Given the description of an element on the screen output the (x, y) to click on. 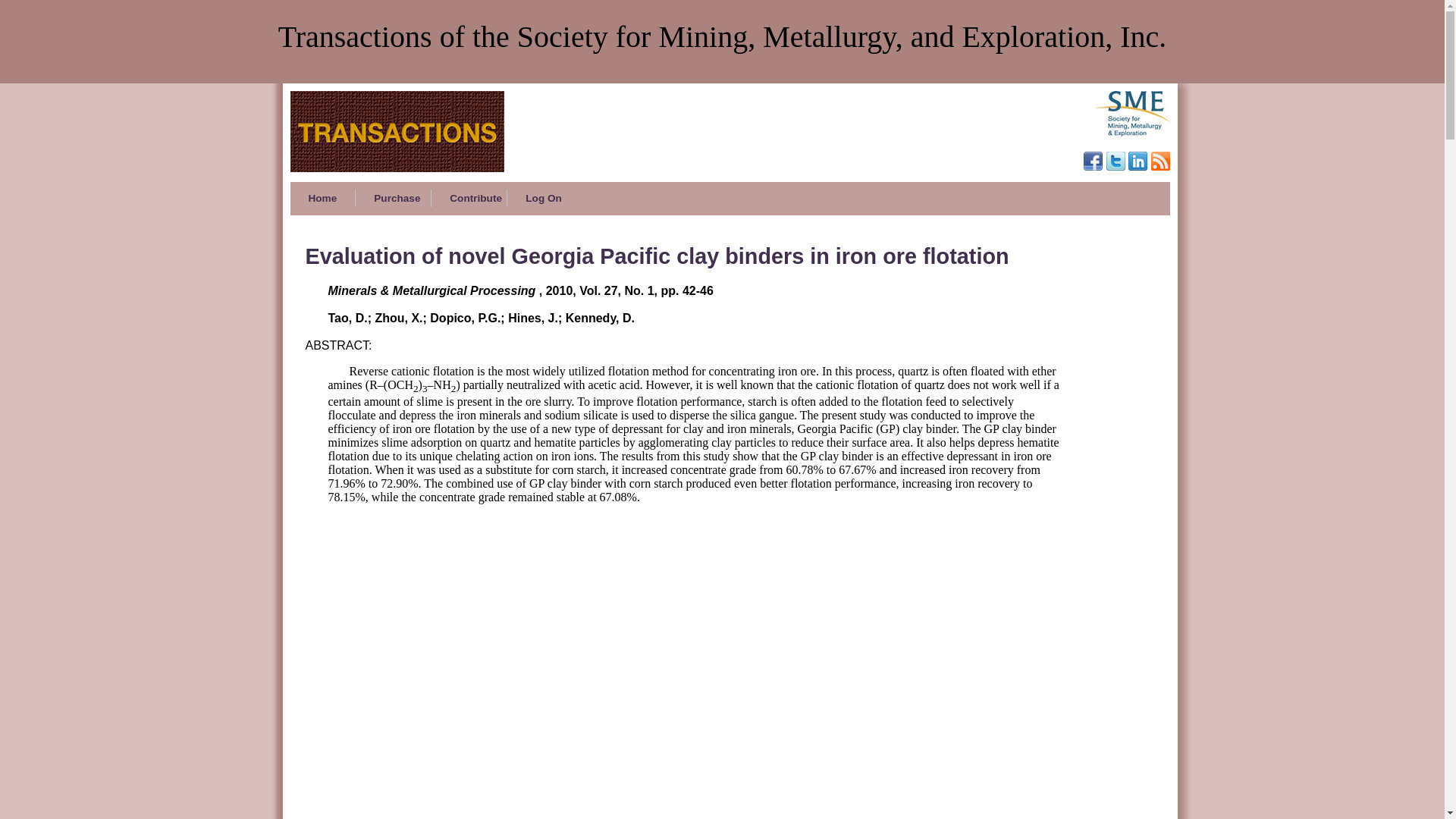
Contribute (468, 198)
Log On (542, 198)
Home (322, 198)
Purchase (392, 198)
